Given the description of an element on the screen output the (x, y) to click on. 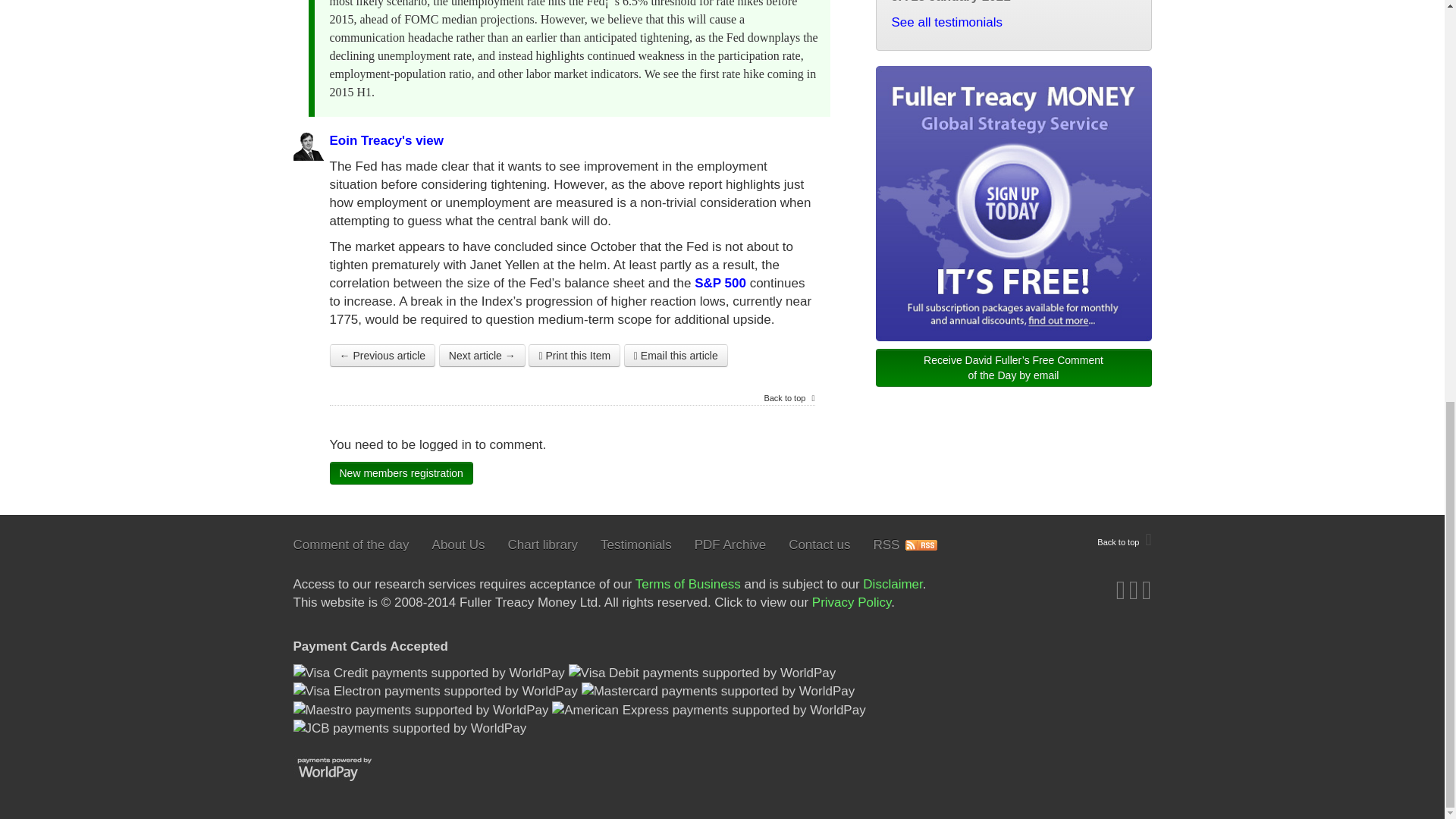
Back to top (787, 398)
Back to top (1124, 540)
